Given the description of an element on the screen output the (x, y) to click on. 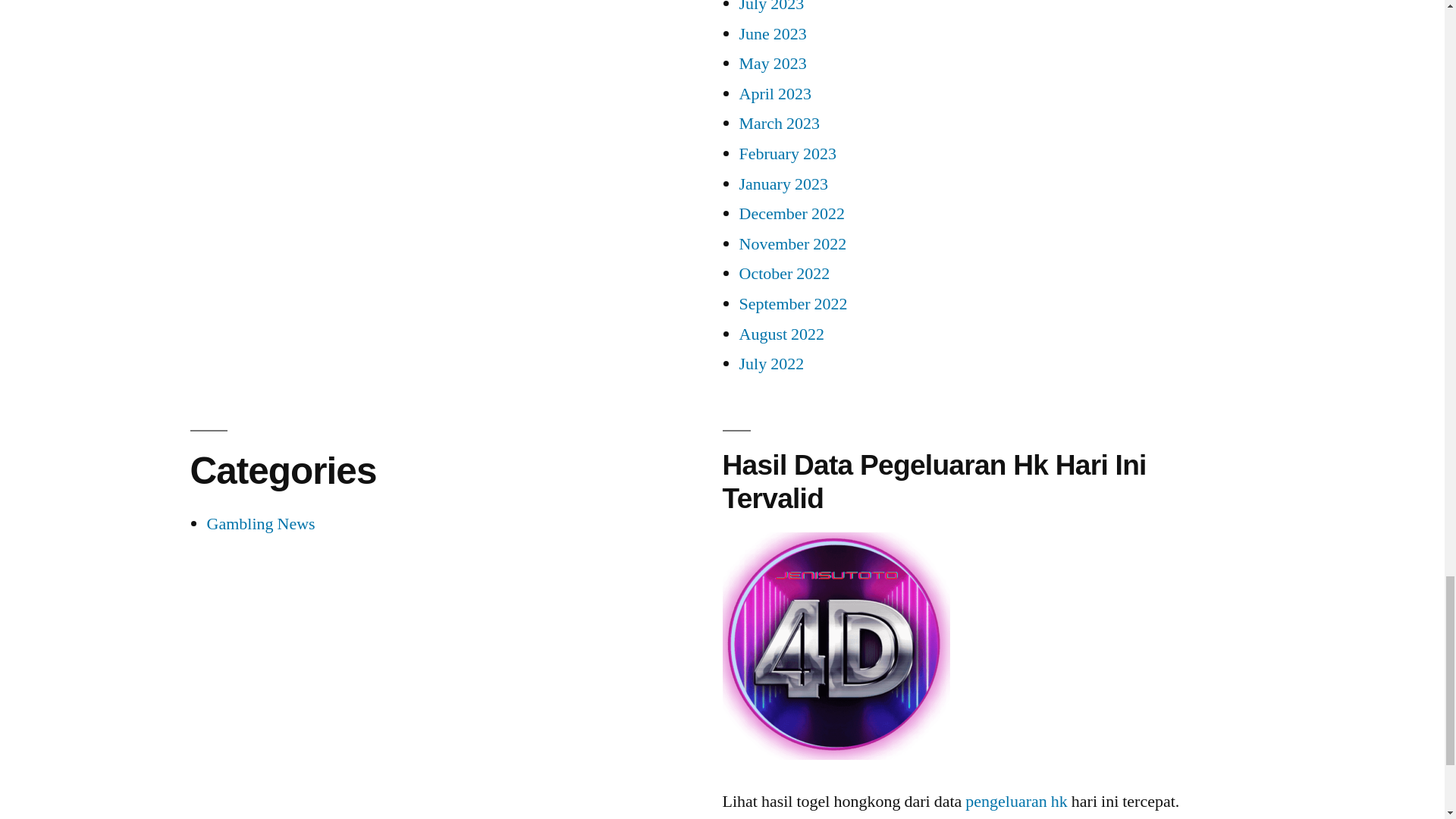
pengeluaran hk (835, 646)
December 2022 (791, 213)
March 2023 (778, 123)
October 2022 (783, 273)
April 2023 (774, 93)
May 2023 (772, 63)
June 2023 (772, 34)
February 2023 (786, 153)
July 2023 (770, 7)
January 2023 (782, 183)
November 2022 (791, 243)
